Given the description of an element on the screen output the (x, y) to click on. 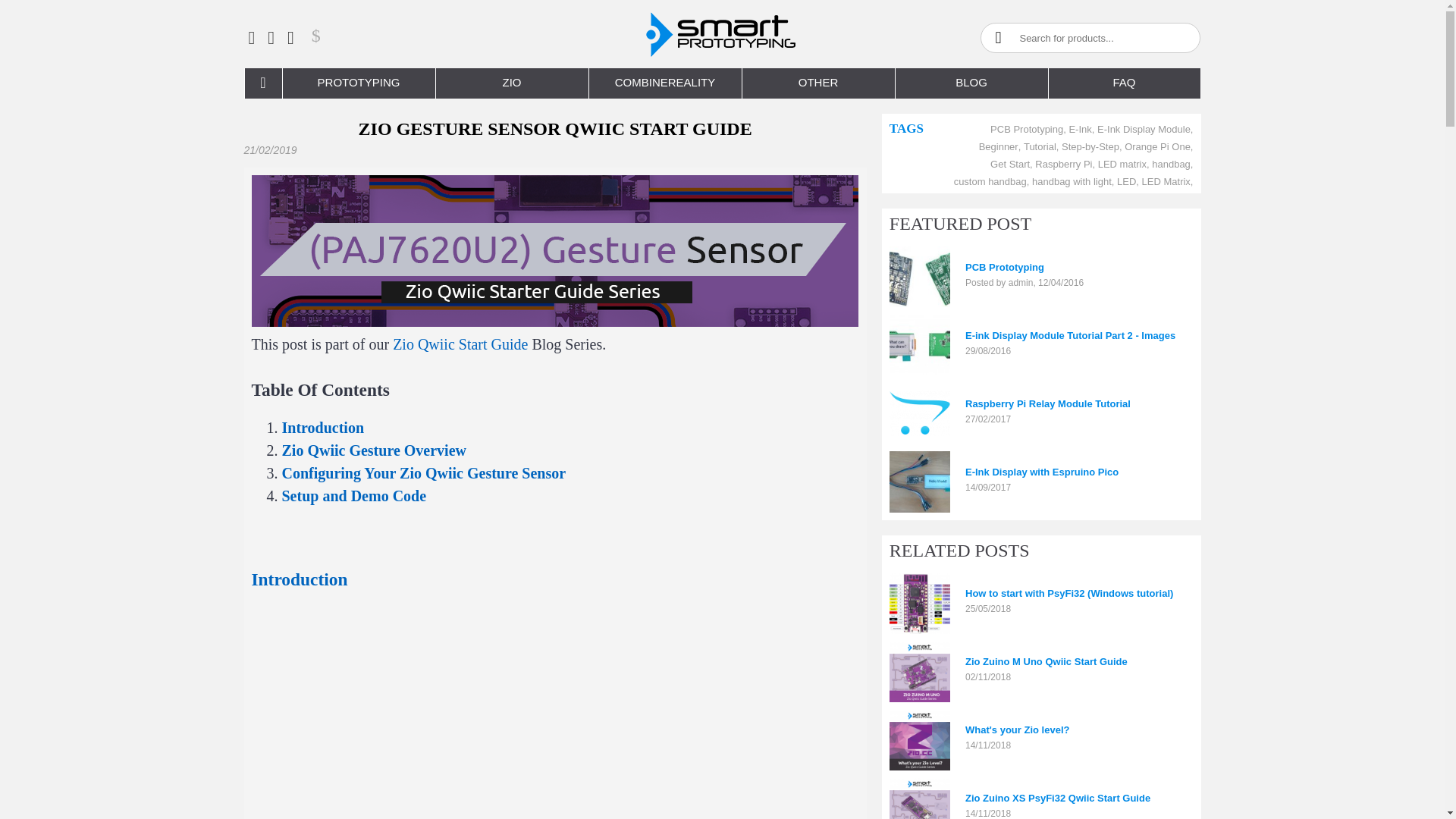
Smart Prototyping (721, 33)
ZIO (511, 82)
PROTOTYPING (357, 82)
